Given the description of an element on the screen output the (x, y) to click on. 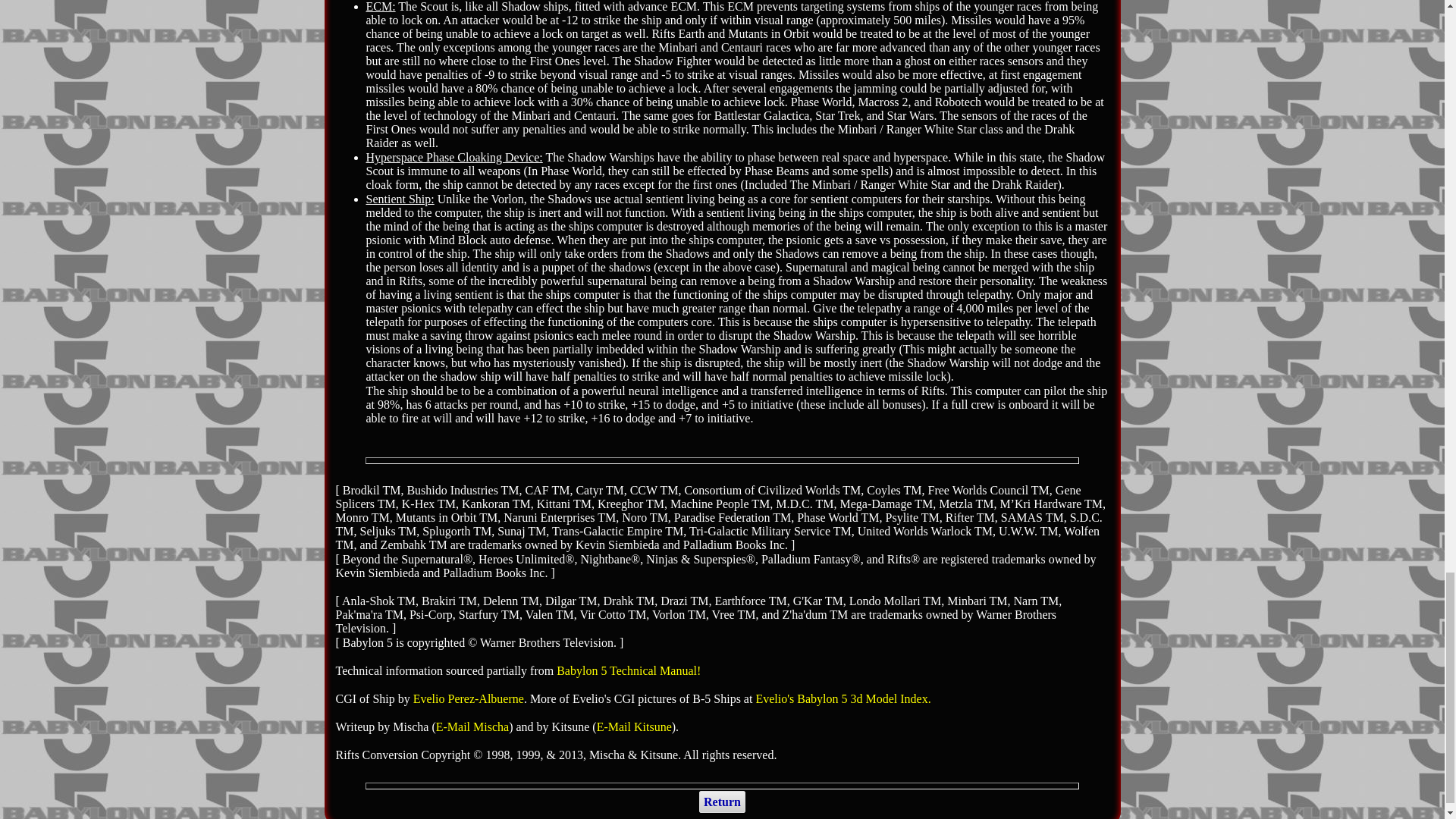
E-Mail Kitsune (633, 726)
E-Mail Mischa (471, 726)
Evelio's Babylon 5 3d Model Index. (842, 698)
Evelio Perez-Albuerne (468, 698)
Return (721, 802)
Babylon 5 Technical Manual! (628, 670)
